Given the description of an element on the screen output the (x, y) to click on. 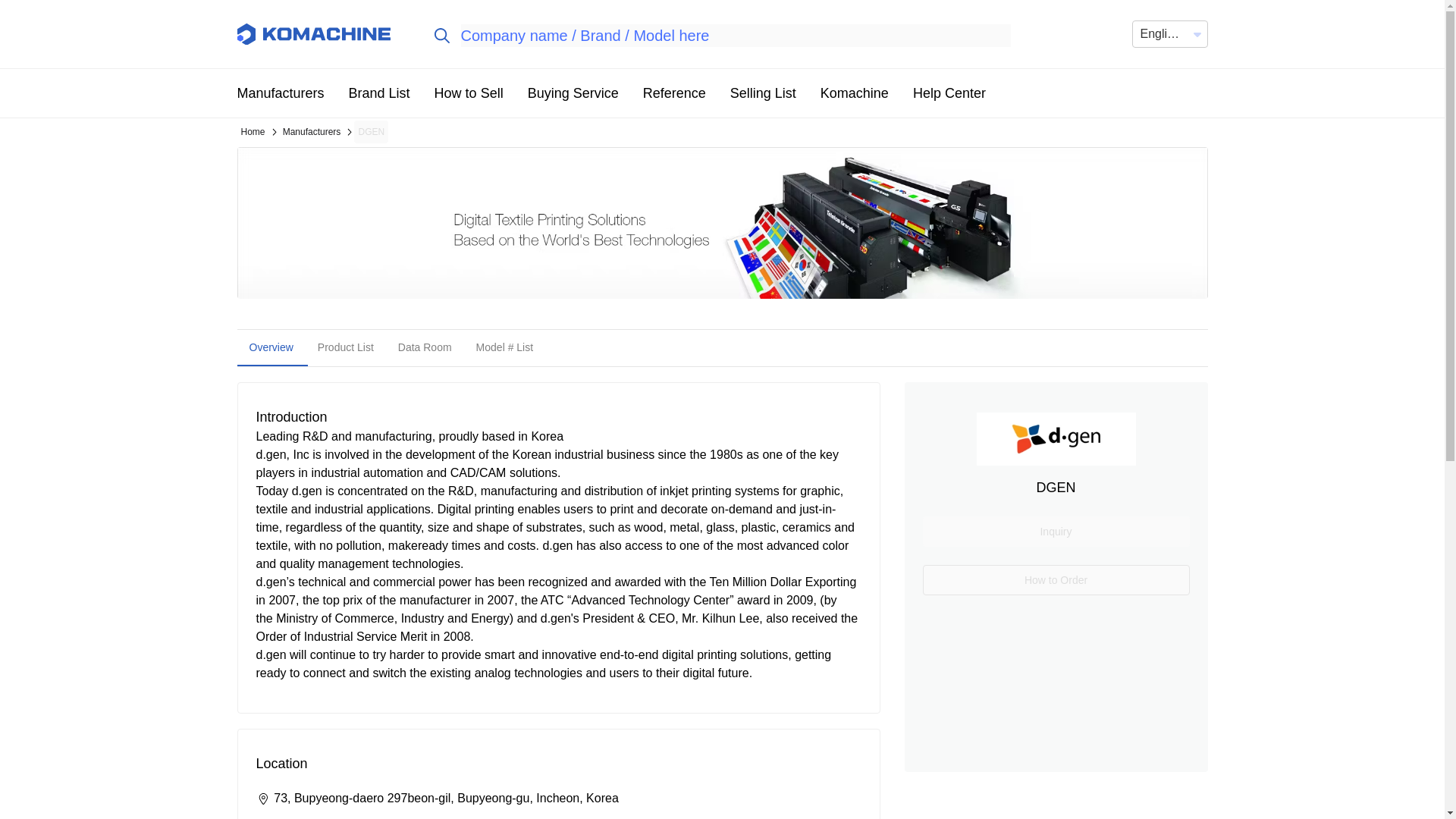
DGEN (370, 131)
Home (251, 131)
Overview (269, 348)
Buying Service (572, 92)
Help Center (949, 92)
Data Room (424, 348)
Manufacturers (312, 131)
Manufacturers (280, 92)
Selling List (762, 92)
Brand List (379, 92)
